Given the description of an element on the screen output the (x, y) to click on. 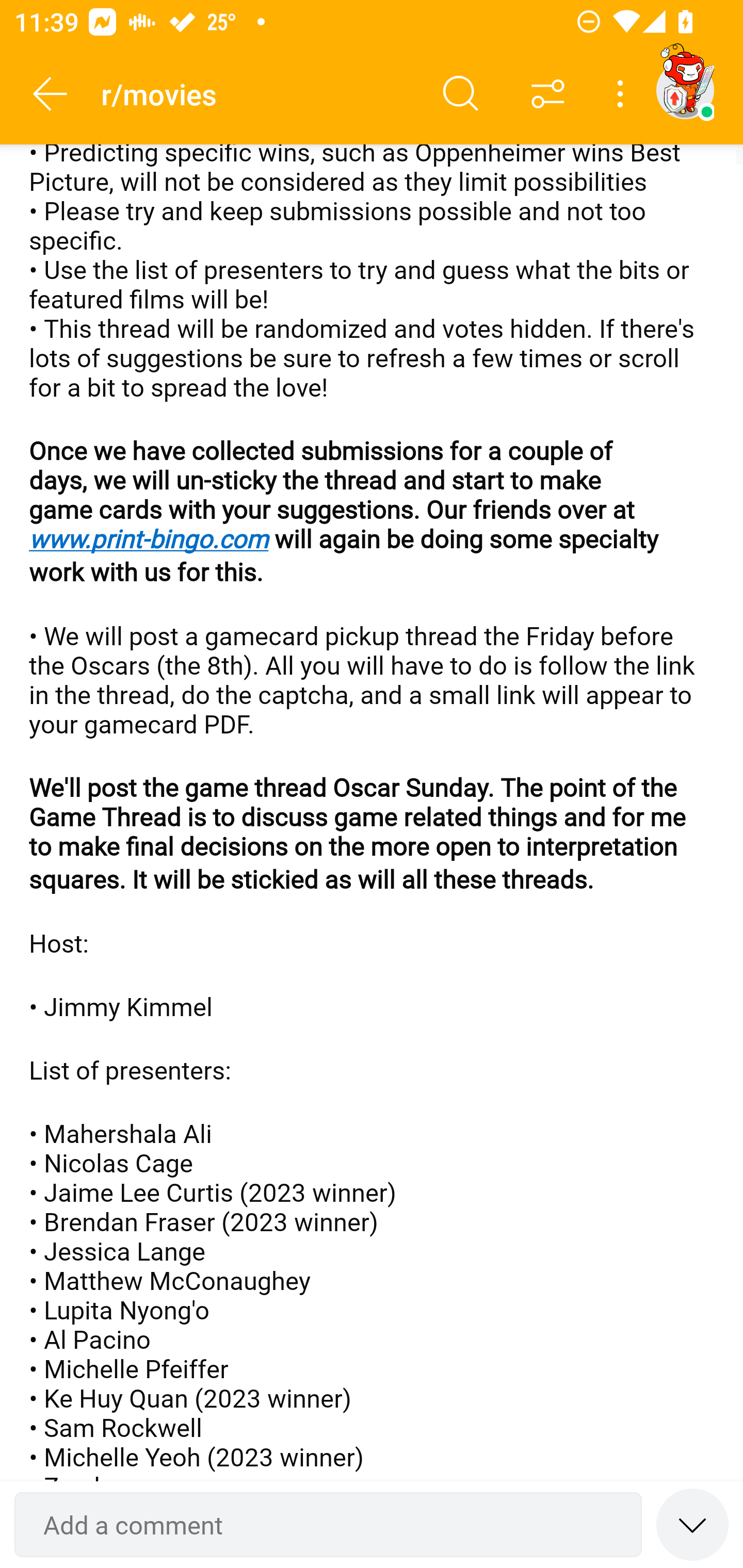
Back (50, 93)
TestAppium002 account (685, 90)
Search comments (460, 93)
Sort comments (547, 93)
More options (623, 93)
r/movies (259, 92)
Speed read (692, 1524)
Add a comment (327, 1524)
